Given the description of an element on the screen output the (x, y) to click on. 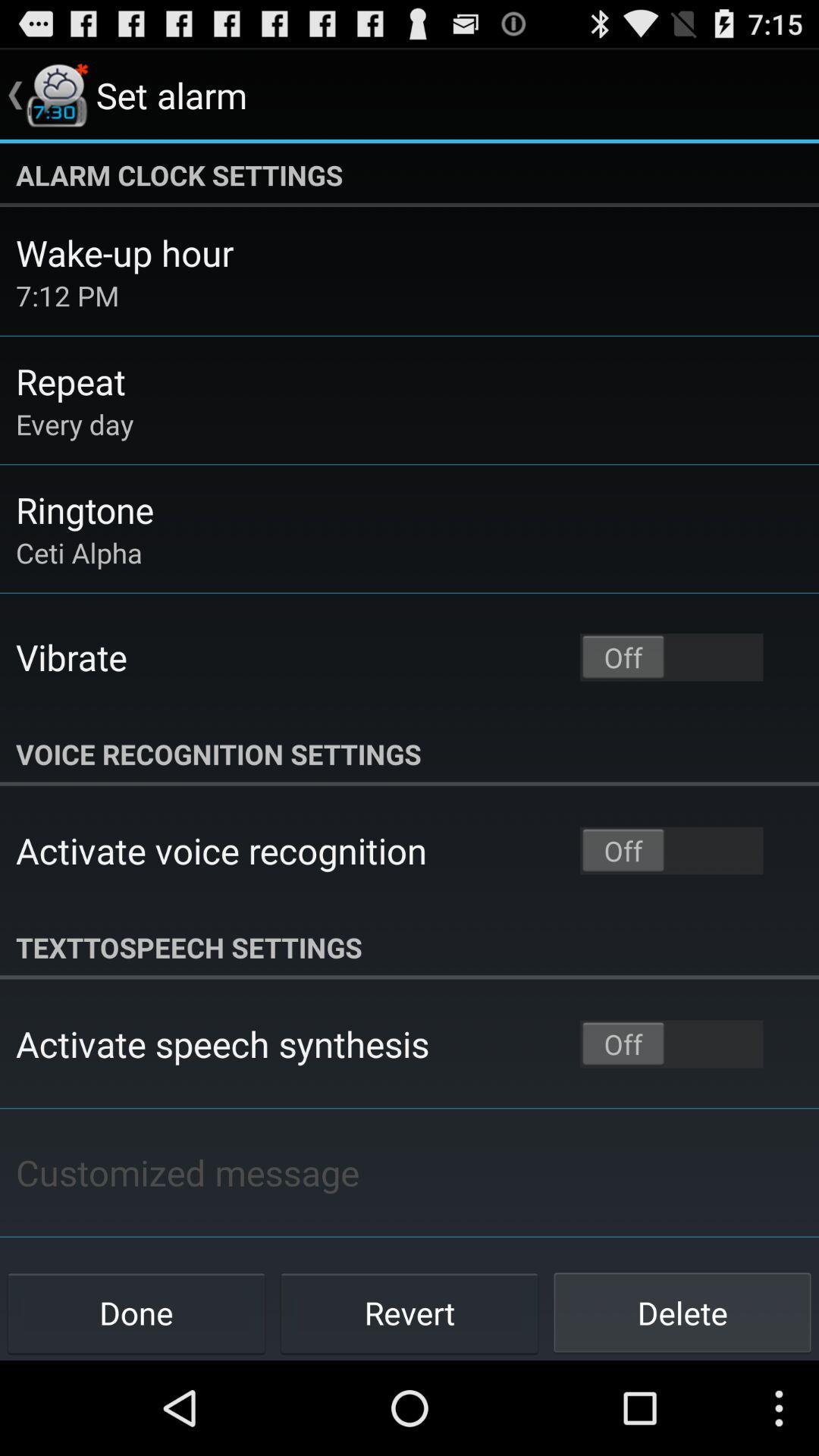
tap app above the wake-up hour item (409, 175)
